Given the description of an element on the screen output the (x, y) to click on. 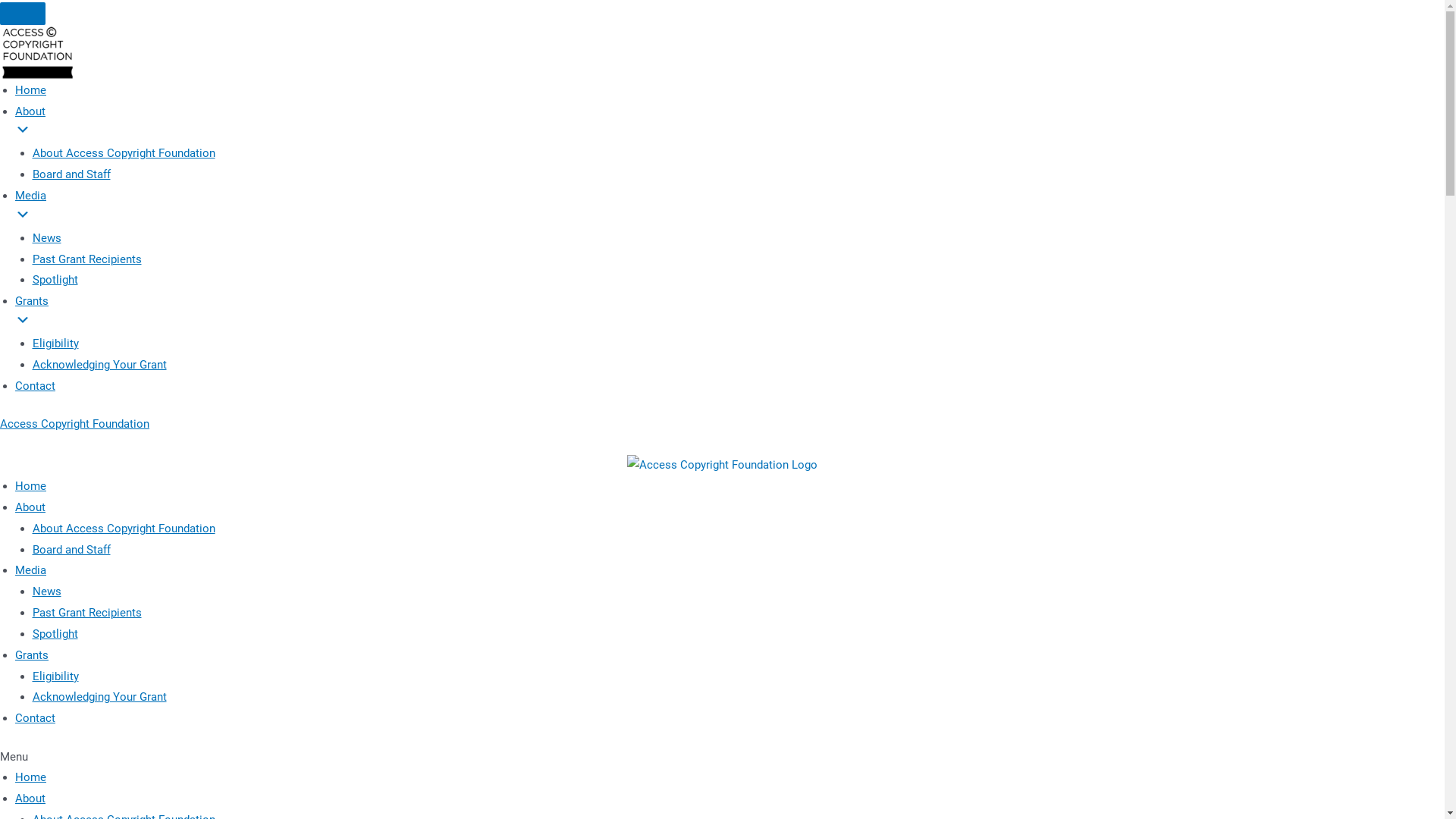
Media Element type: text (729, 208)
Acknowledging Your Grant Element type: text (98, 364)
Grants Element type: text (729, 313)
Eligibility Element type: text (54, 676)
Contact Element type: text (35, 385)
Spotlight Element type: text (54, 633)
Media Element type: text (30, 570)
Access Copyright Foundation Logo Element type: hover (722, 465)
Spotlight Element type: text (54, 279)
News Element type: text (45, 237)
Home Element type: text (30, 777)
Home Element type: text (30, 90)
Acknowledging Your Grant Element type: text (98, 696)
About Element type: text (729, 124)
Grants Element type: text (31, 655)
About Access Copyright Foundation Element type: text (122, 153)
Past Grant Recipients Element type: text (86, 259)
Eligibility Element type: text (54, 343)
About Element type: text (30, 798)
Board and Staff Element type: text (70, 174)
About Element type: text (30, 507)
Past Grant Recipients Element type: text (86, 612)
Board and Staff Element type: text (70, 549)
Home Element type: text (30, 485)
Access Copyright Foundation Logo Element type: hover (37, 52)
News Element type: text (45, 591)
Access Copyright Foundation Element type: text (74, 423)
Contact Element type: text (35, 717)
About Access Copyright Foundation Element type: text (122, 528)
